Given the description of an element on the screen output the (x, y) to click on. 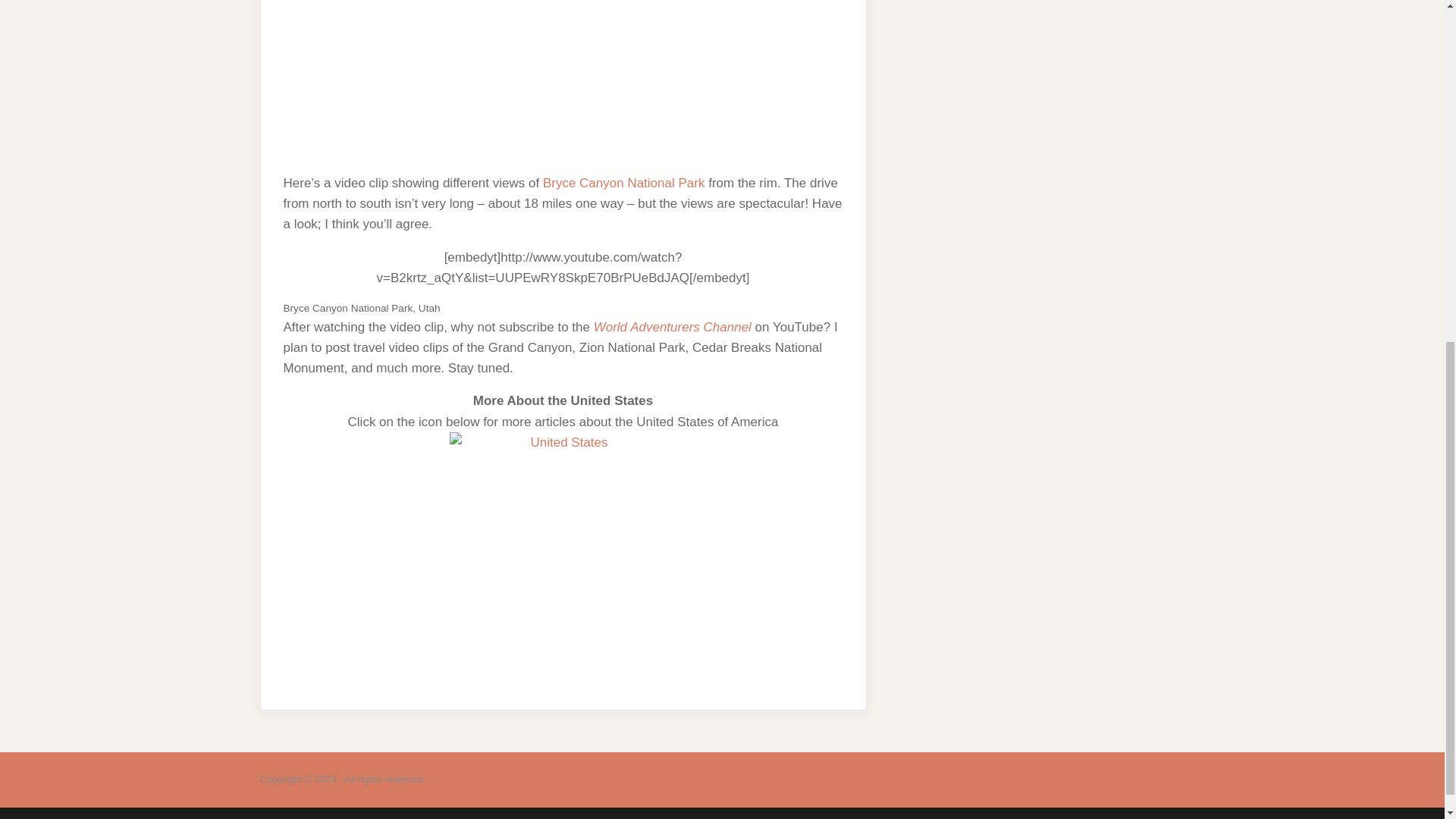
Bryce Canyon National Park (623, 183)
World Adventurers Channel (672, 327)
